Given the description of an element on the screen output the (x, y) to click on. 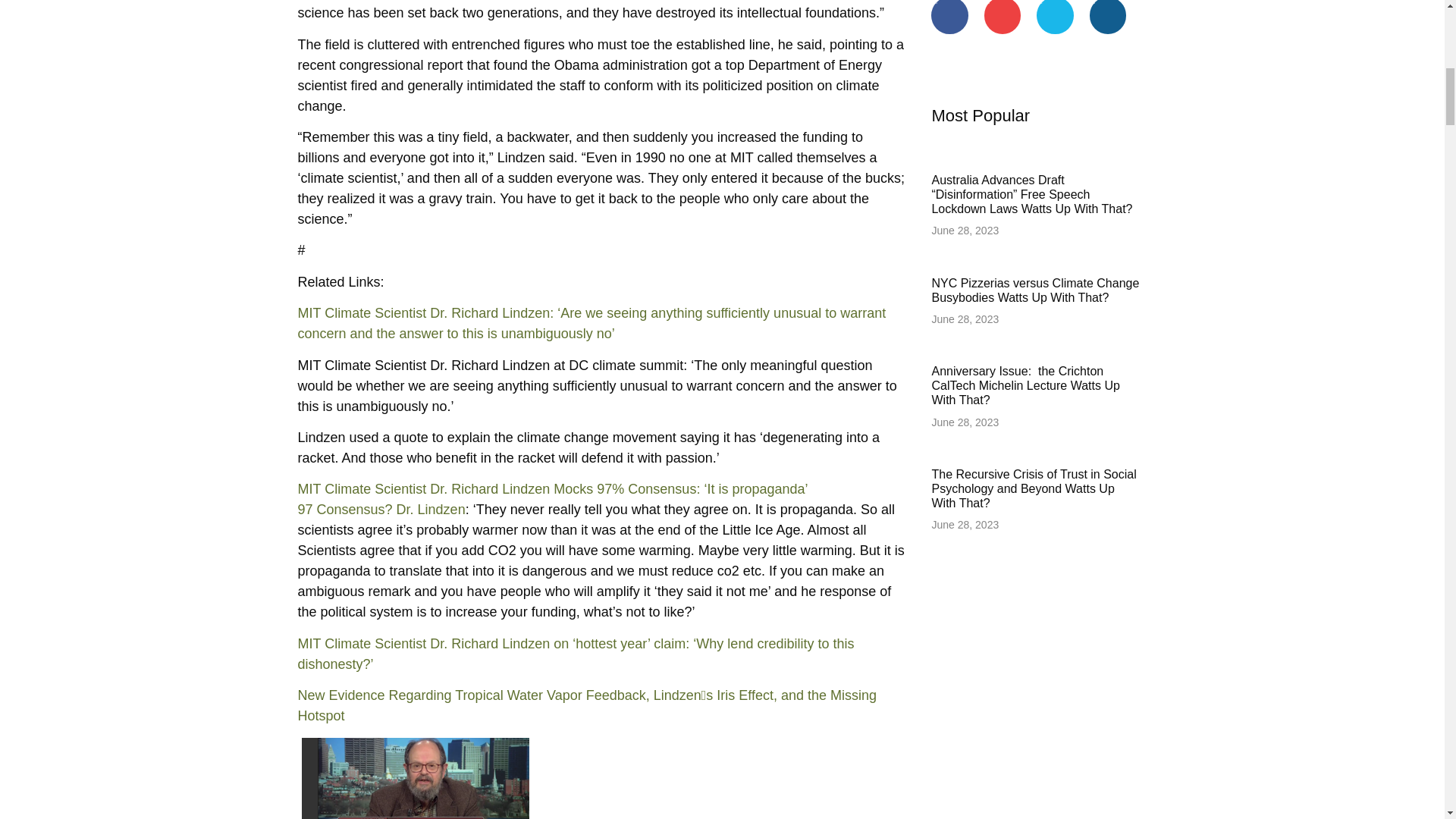
97 Consensus? Dr. Lindzen (380, 509)
